Given the description of an element on the screen output the (x, y) to click on. 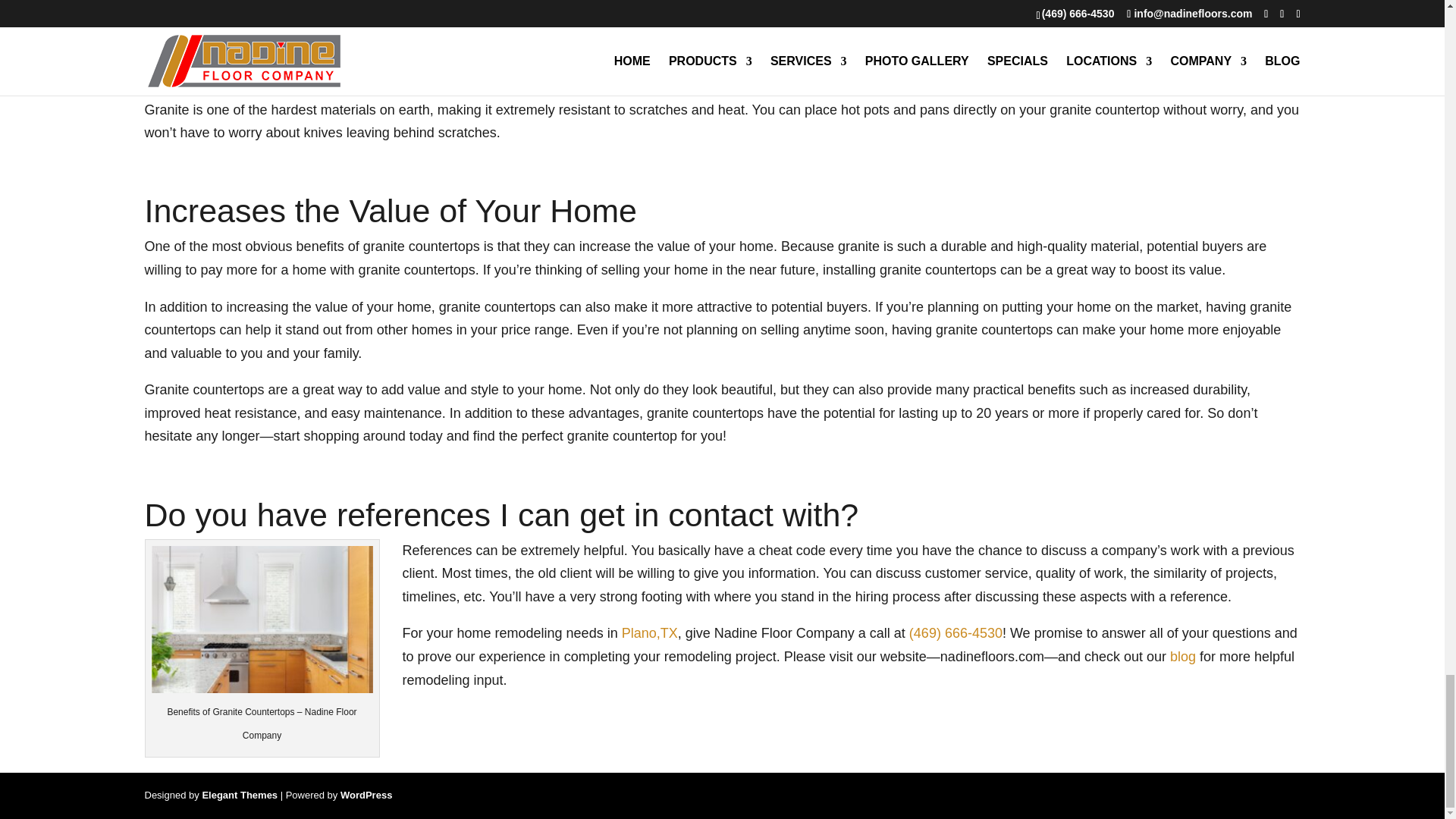
5 Benefits of Granite Countertops Nadine Floor Company 3 1 (261, 619)
